Given the description of an element on the screen output the (x, y) to click on. 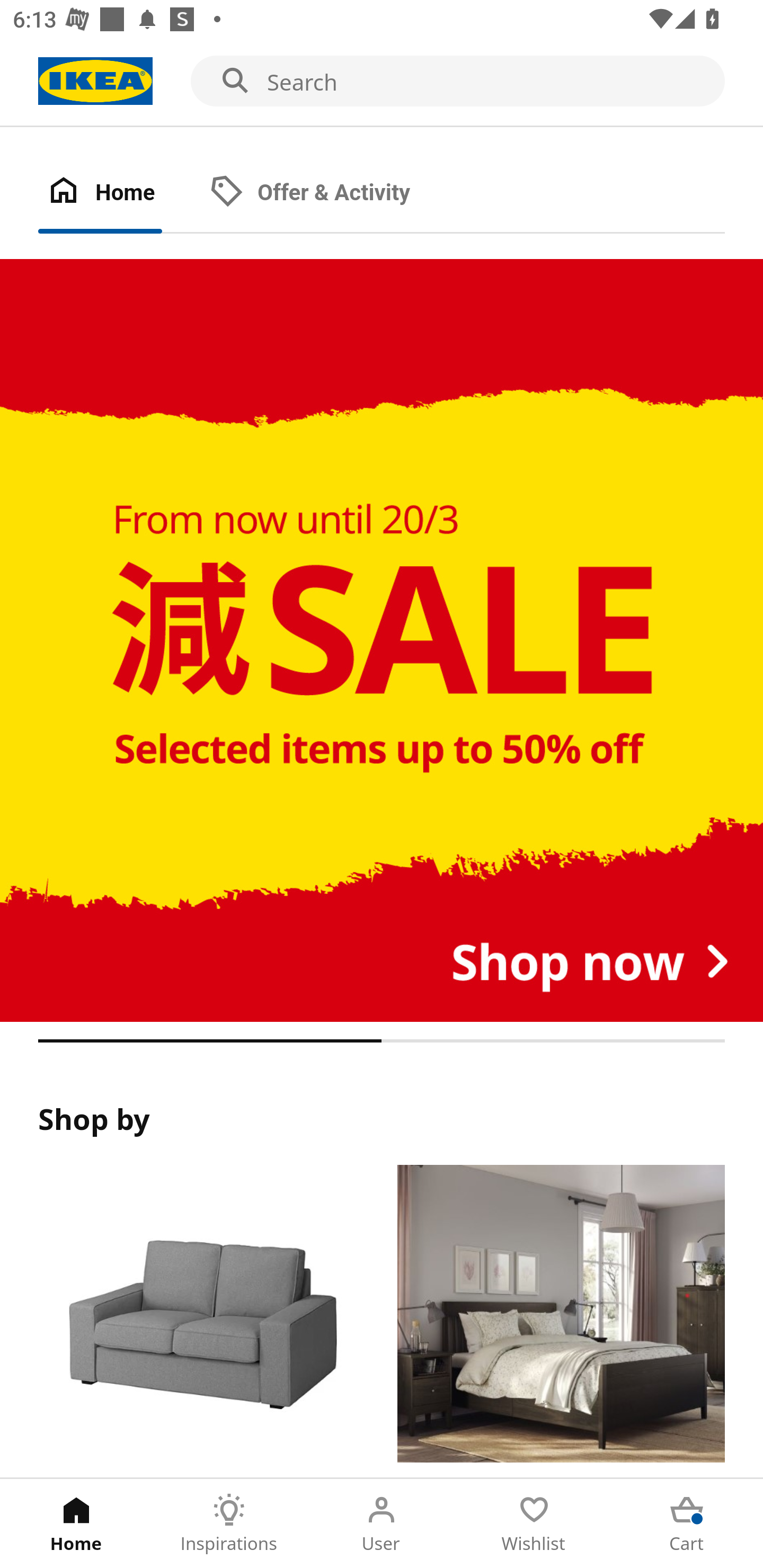
Search (381, 81)
Home
Tab 1 of 2 (118, 192)
Offer & Activity
Tab 2 of 2 (327, 192)
Products (201, 1321)
Rooms (560, 1321)
Home
Tab 1 of 5 (76, 1522)
Inspirations
Tab 2 of 5 (228, 1522)
User
Tab 3 of 5 (381, 1522)
Wishlist
Tab 4 of 5 (533, 1522)
Cart
Tab 5 of 5 (686, 1522)
